Given the description of an element on the screen output the (x, y) to click on. 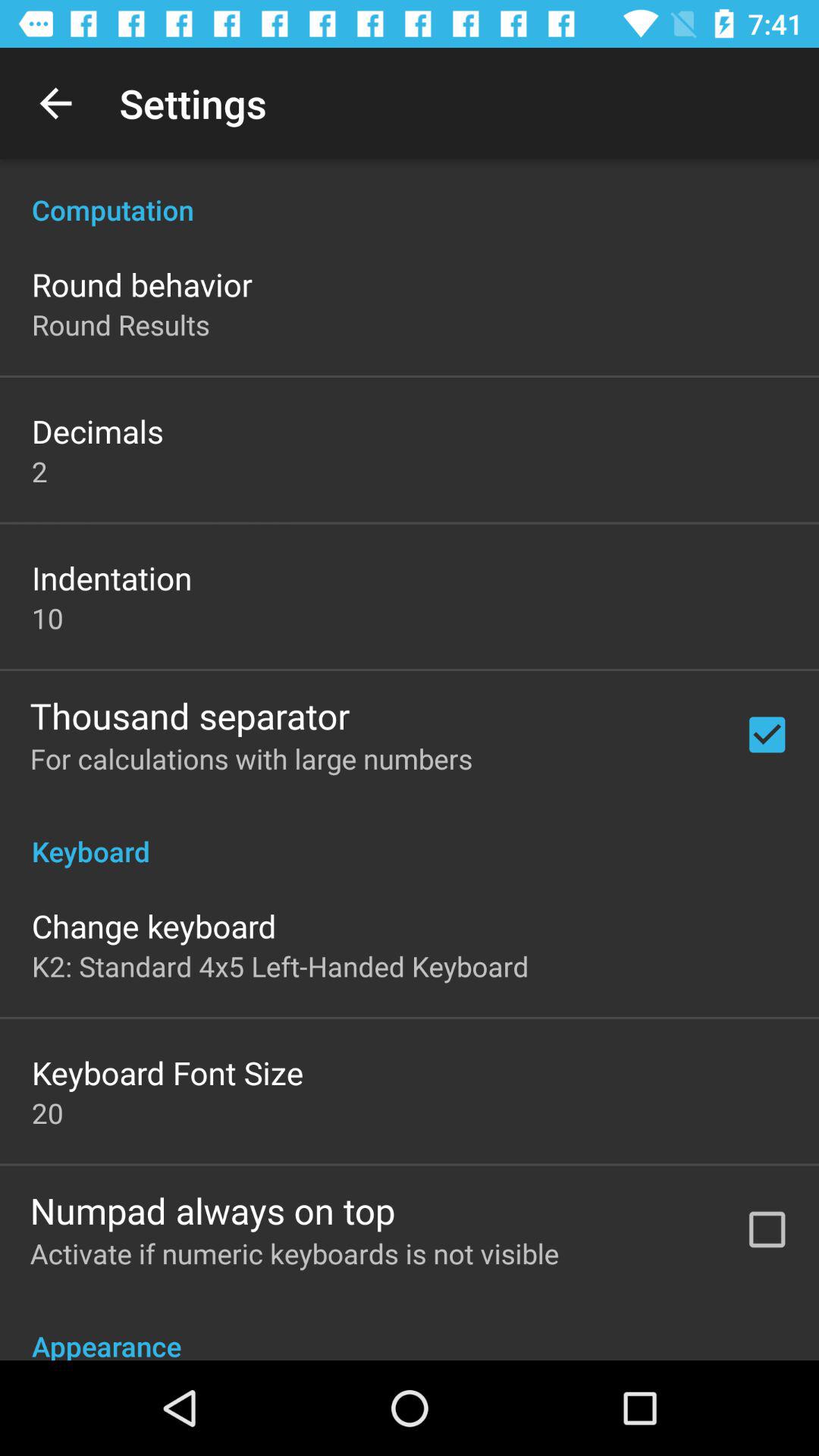
turn on app above the keyboard (251, 758)
